Given the description of an element on the screen output the (x, y) to click on. 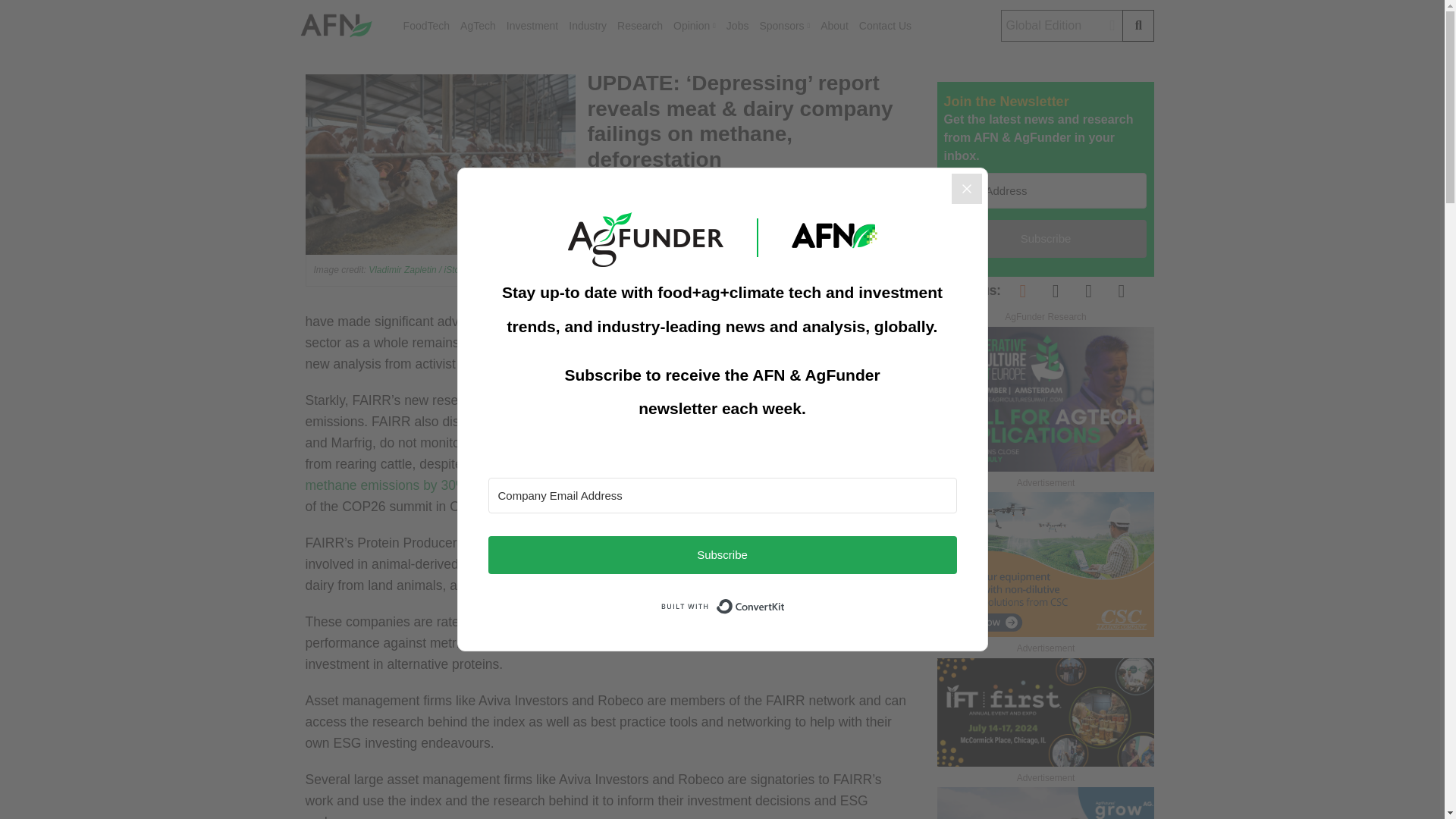
Investment (531, 25)
Research (639, 25)
Opinion (694, 25)
FoodTech (426, 25)
Sponsors (783, 25)
AgTech (478, 25)
Industry (588, 25)
Contact Us (885, 25)
